Given the description of an element on the screen output the (x, y) to click on. 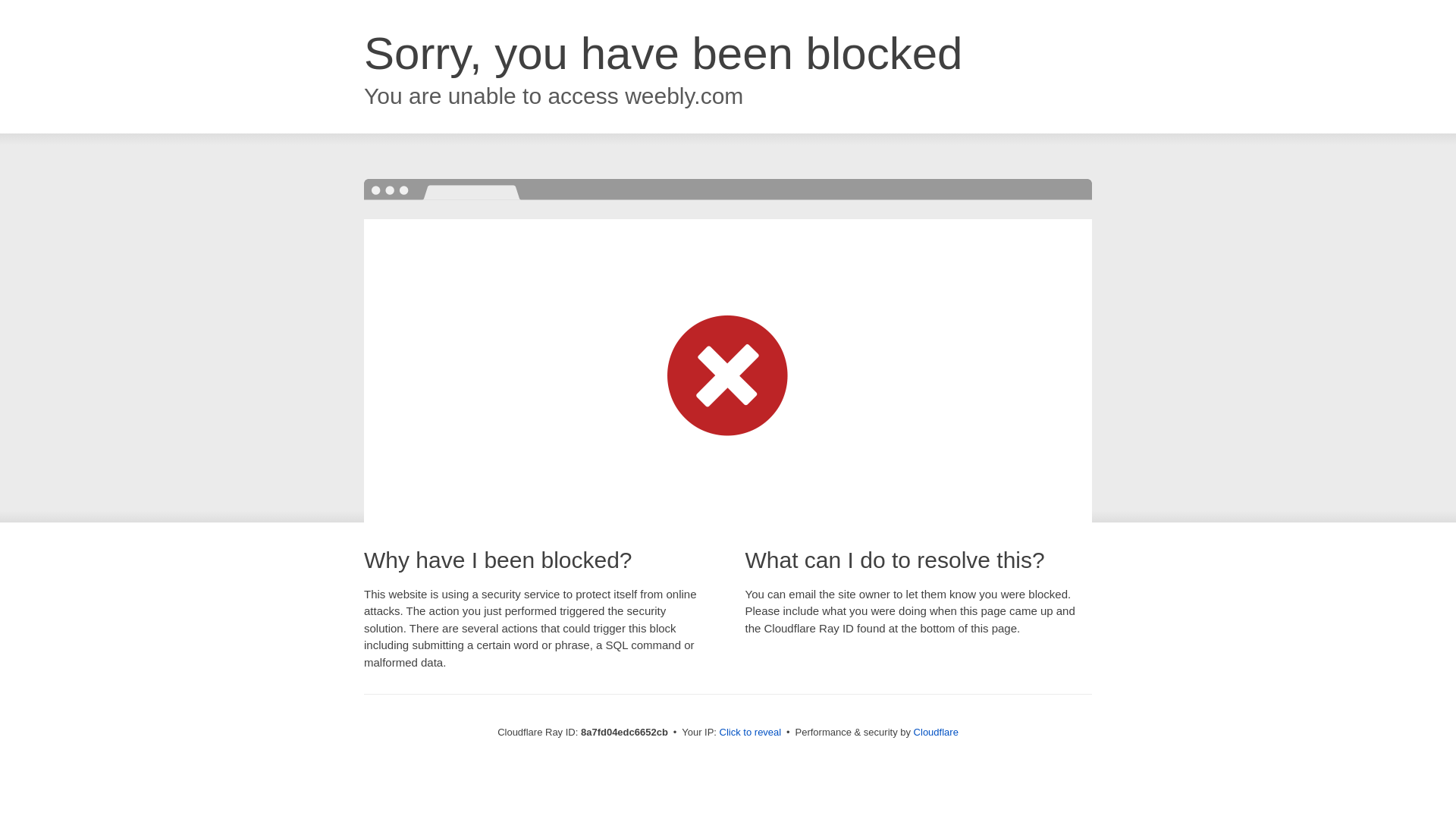
Click to reveal (750, 732)
Cloudflare (936, 731)
